Given the description of an element on the screen output the (x, y) to click on. 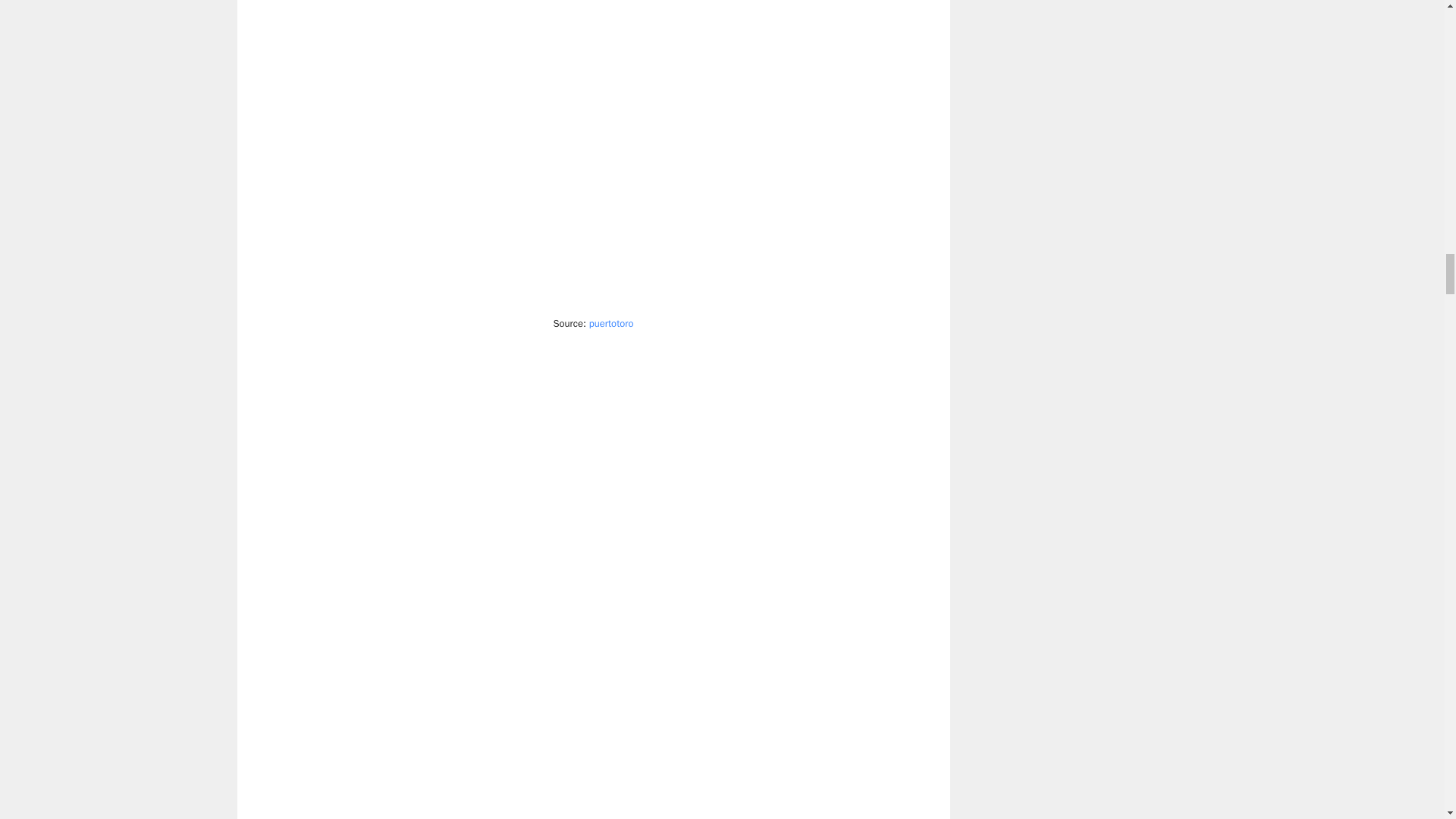
puertotoro (611, 323)
